Given the description of an element on the screen output the (x, y) to click on. 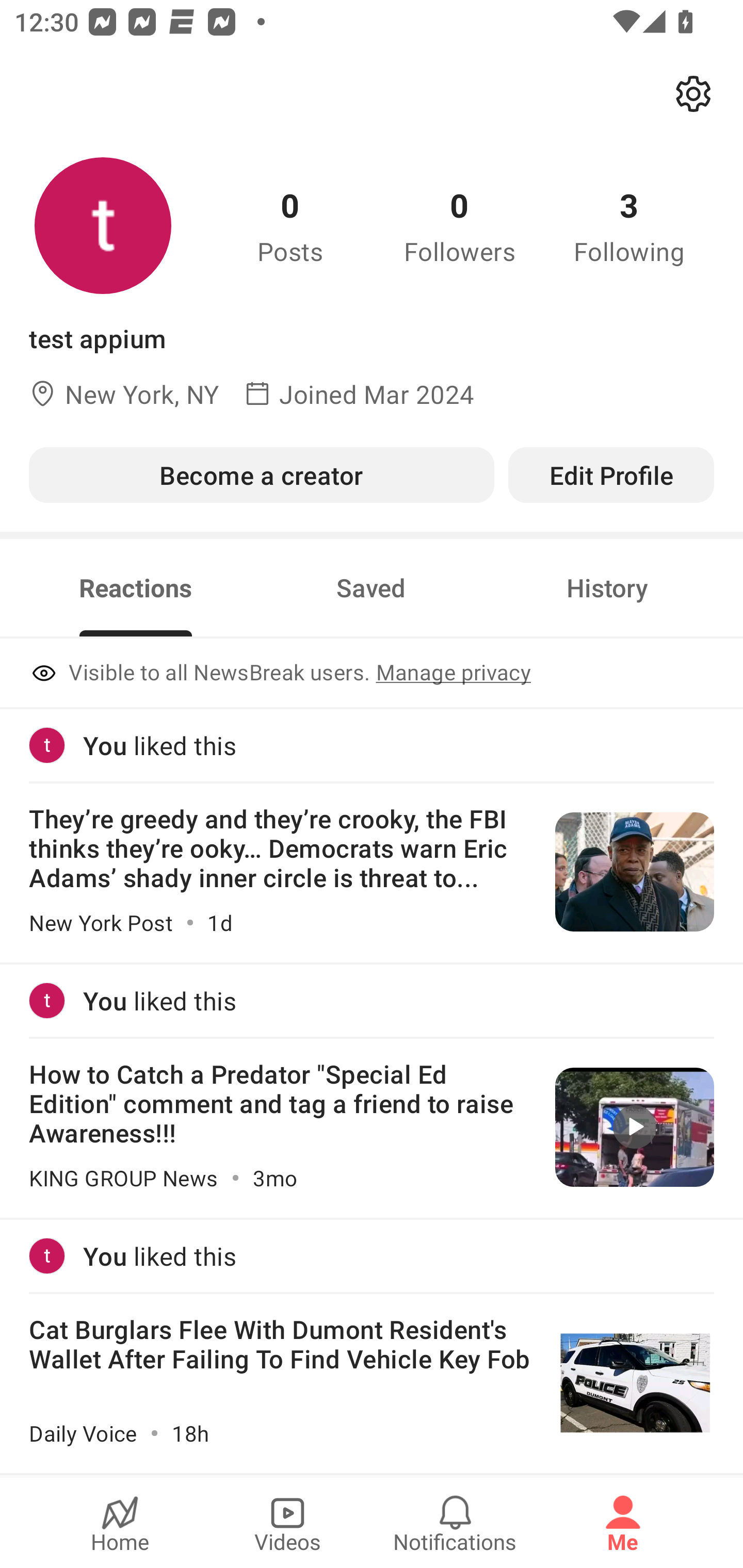
0 Followers (459, 225)
3 Following (629, 225)
Become a creator (261, 474)
Edit Profile (611, 474)
Saved (370, 587)
History (606, 587)
Visible to all NewsBreak users.  Manage privacy (371, 673)
Home (119, 1522)
Videos (287, 1522)
Notifications (455, 1522)
